Given the description of an element on the screen output the (x, y) to click on. 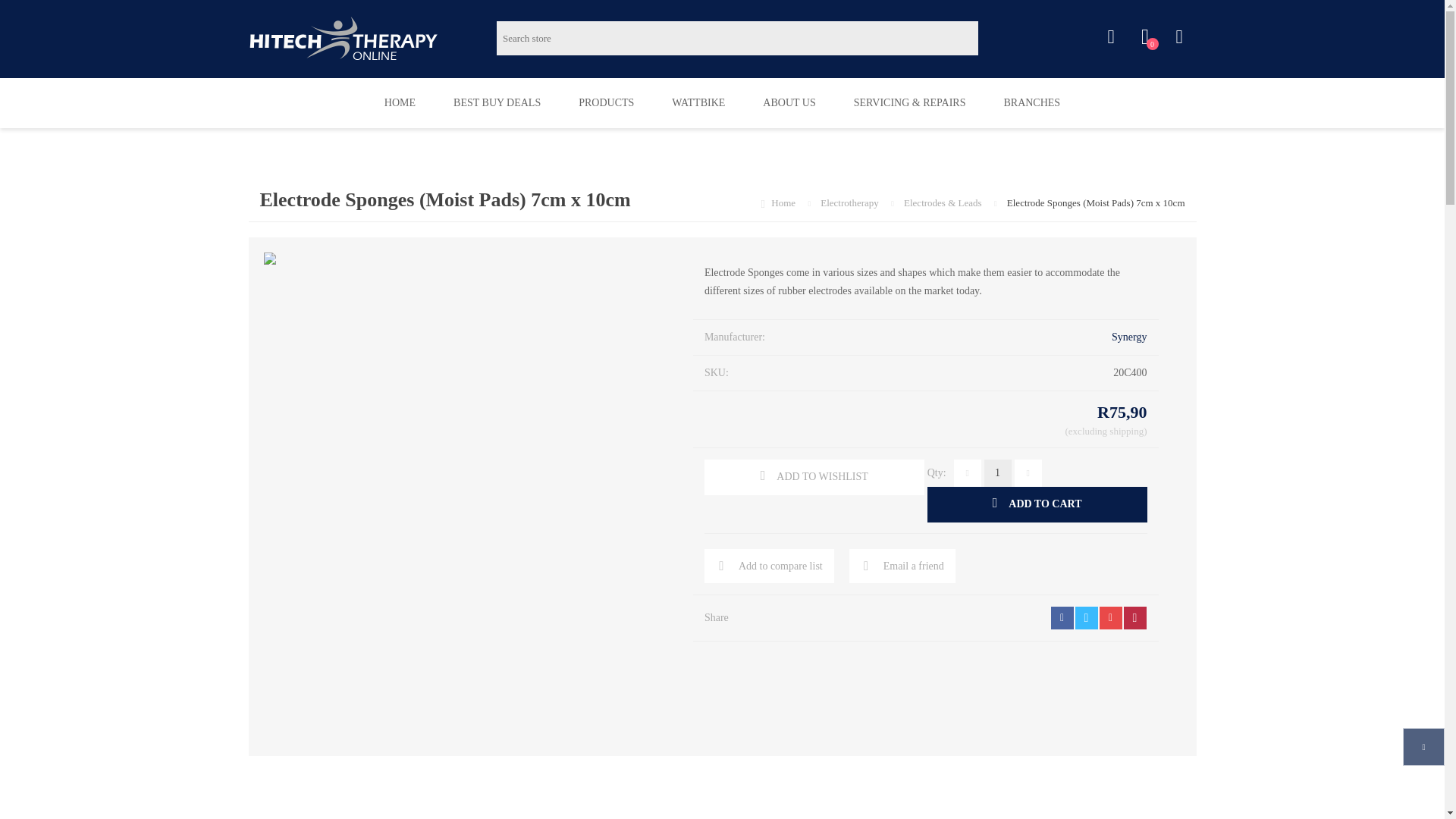
ABOUT US (789, 102)
Home (784, 202)
HOME (399, 102)
Shopping cart (1178, 37)
Search (994, 38)
1 (997, 472)
BEST BUY DEALS (496, 102)
WATTBIKE (698, 102)
Branches (1144, 37)
Electrotherapy (1031, 102)
PRODUCTS (850, 202)
BRANCHES (605, 102)
